Given the description of an element on the screen output the (x, y) to click on. 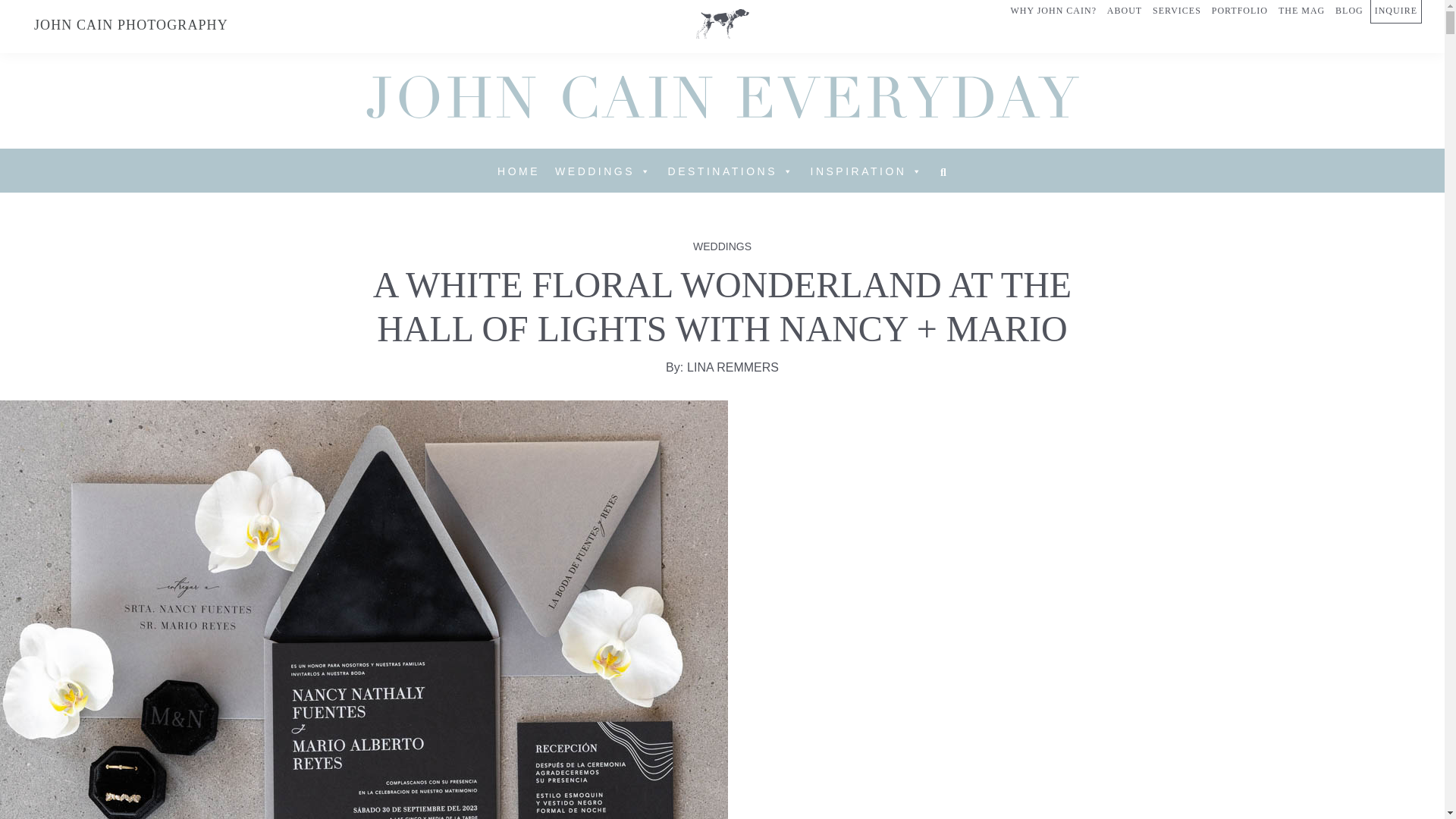
ABOUT (1124, 11)
INQUIRE (1396, 11)
PORTFOLIO (1239, 11)
JOHN CAIN PHOTOGRAPHY (130, 23)
THE MAG (1301, 11)
BLOG (1349, 11)
WEDDINGS (604, 171)
SERVICES (1176, 11)
HOME (518, 171)
WHY JOHN CAIN? (1053, 11)
